Given the description of an element on the screen output the (x, y) to click on. 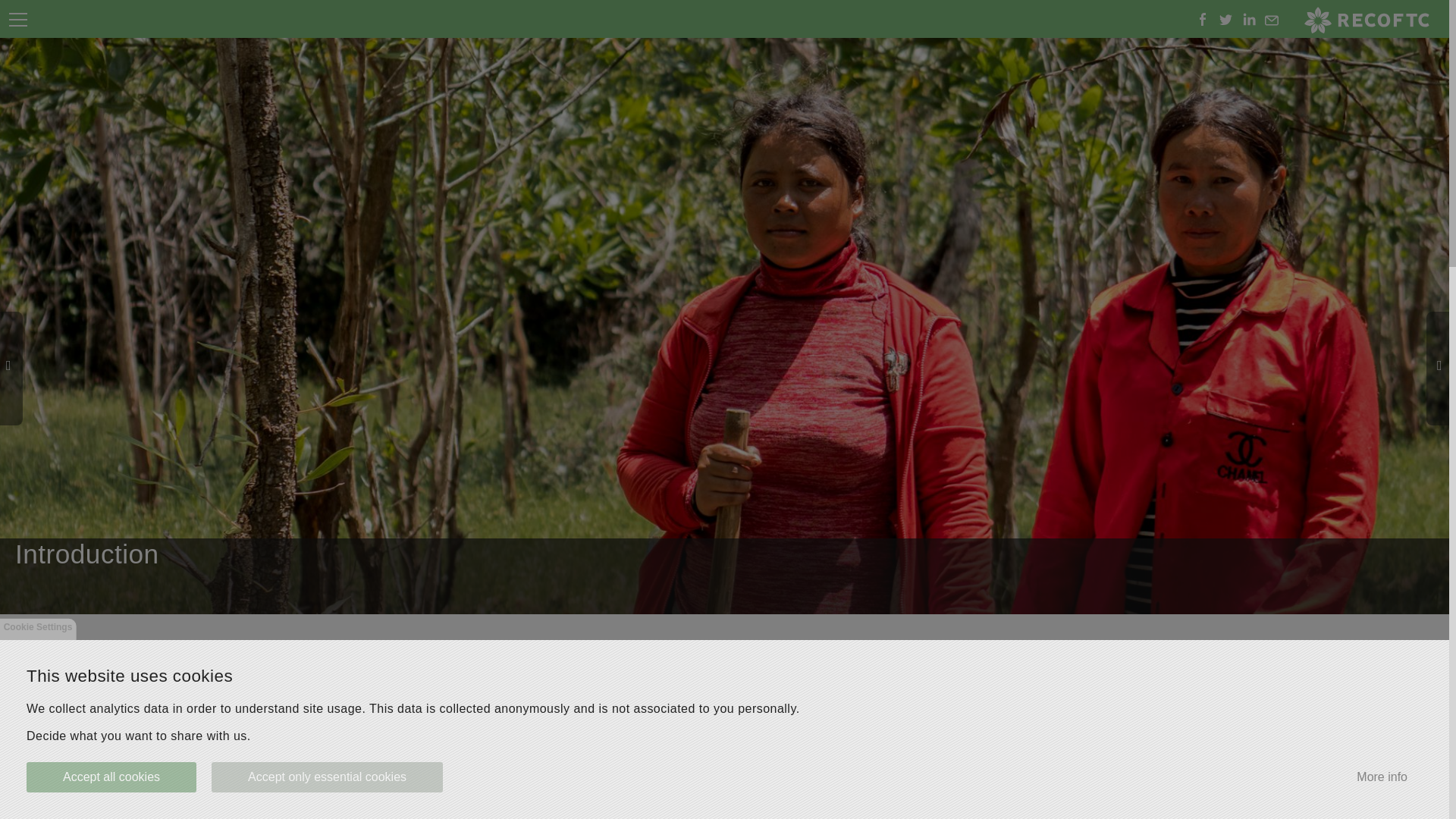
on (5, 4)
More info (1381, 776)
Cookie Settings (38, 629)
Accept only essential cookies (326, 777)
Accept all cookies (111, 777)
